Given the description of an element on the screen output the (x, y) to click on. 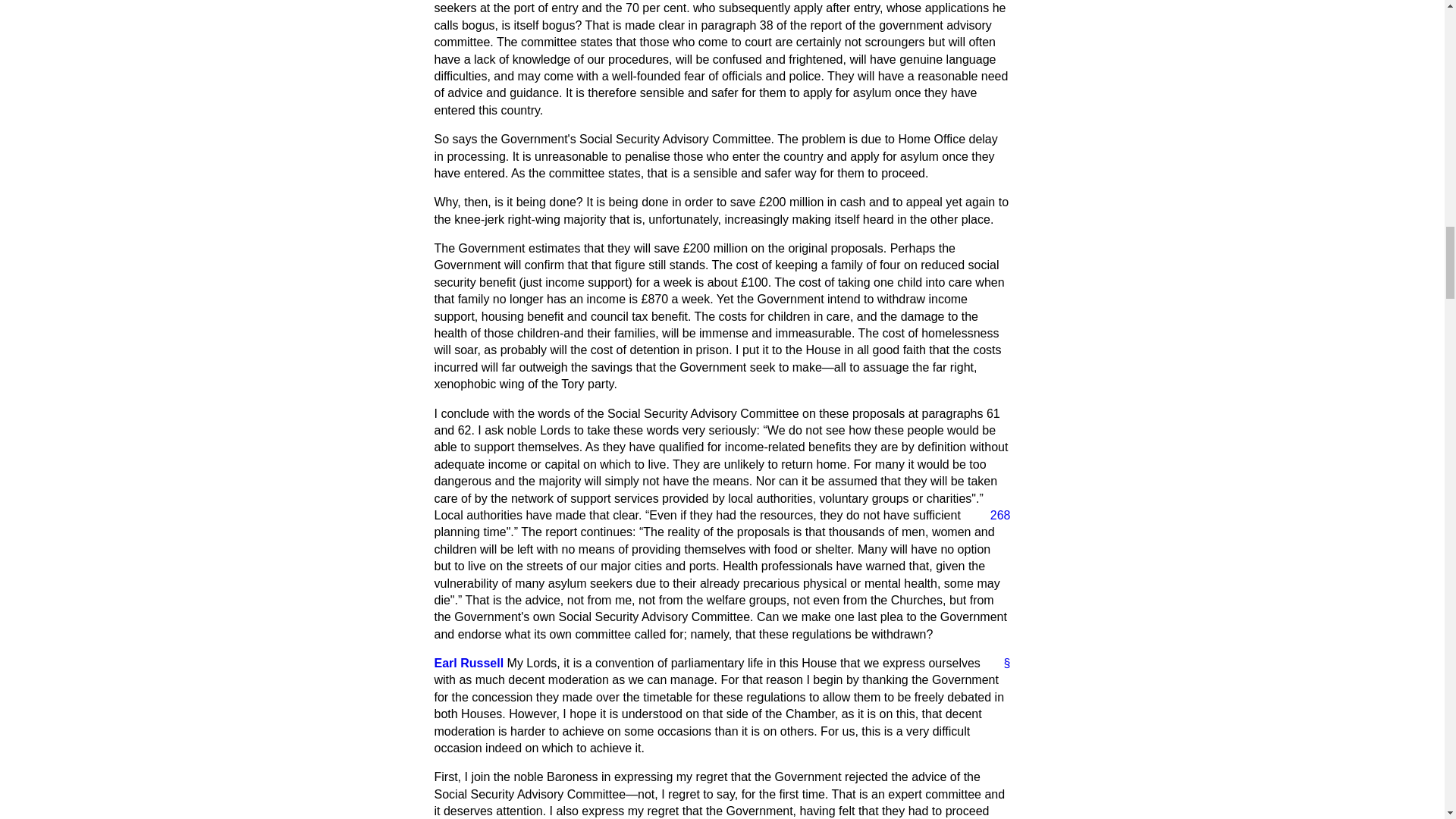
Earl Russell (468, 662)
Link to this speech by Mr Conrad Russell (1000, 663)
268 (994, 515)
Mr Conrad Russell (468, 662)
